Given the description of an element on the screen output the (x, y) to click on. 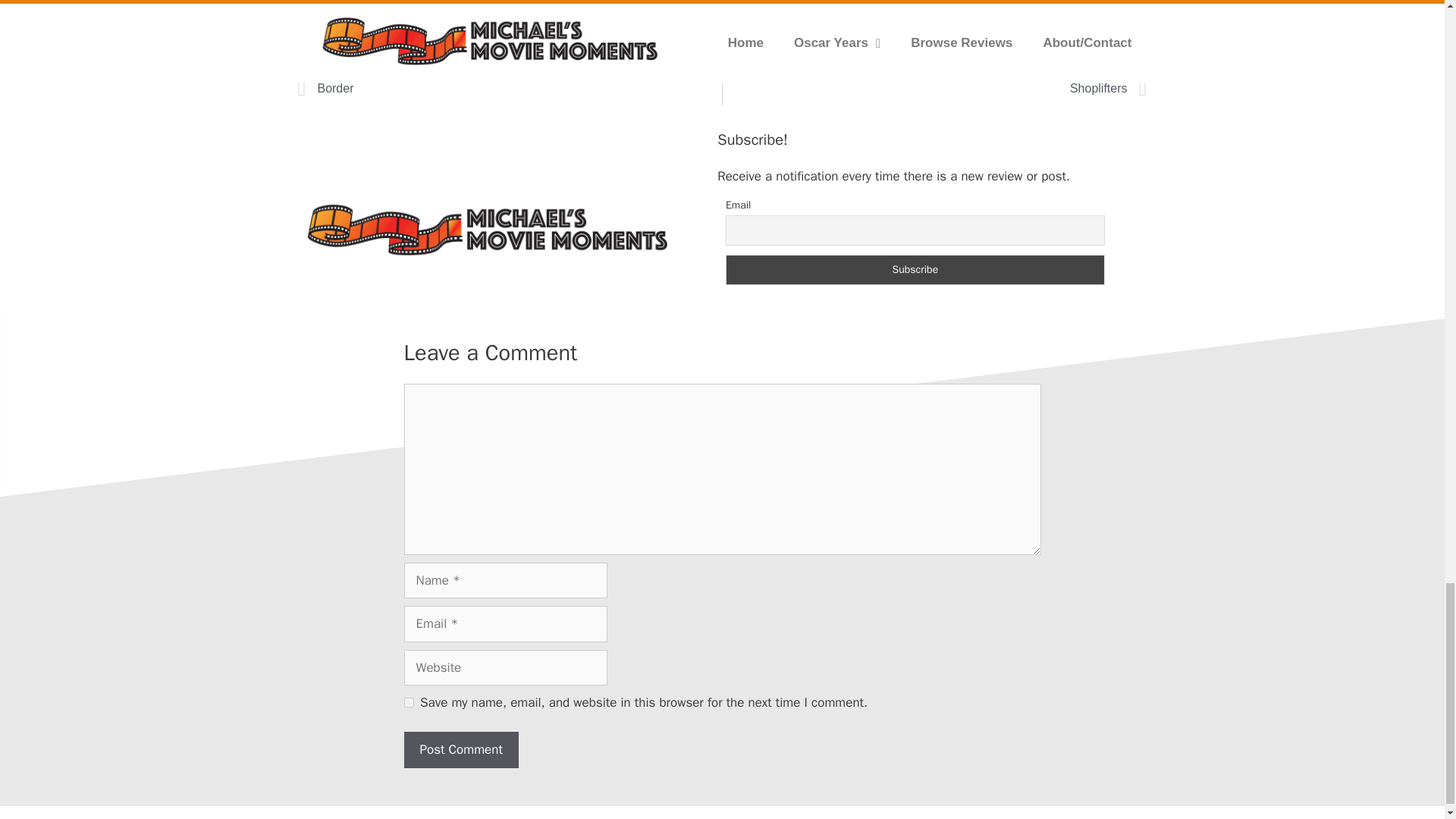
yes (408, 702)
Post Comment (460, 750)
Subscribe (915, 269)
